Given the description of an element on the screen output the (x, y) to click on. 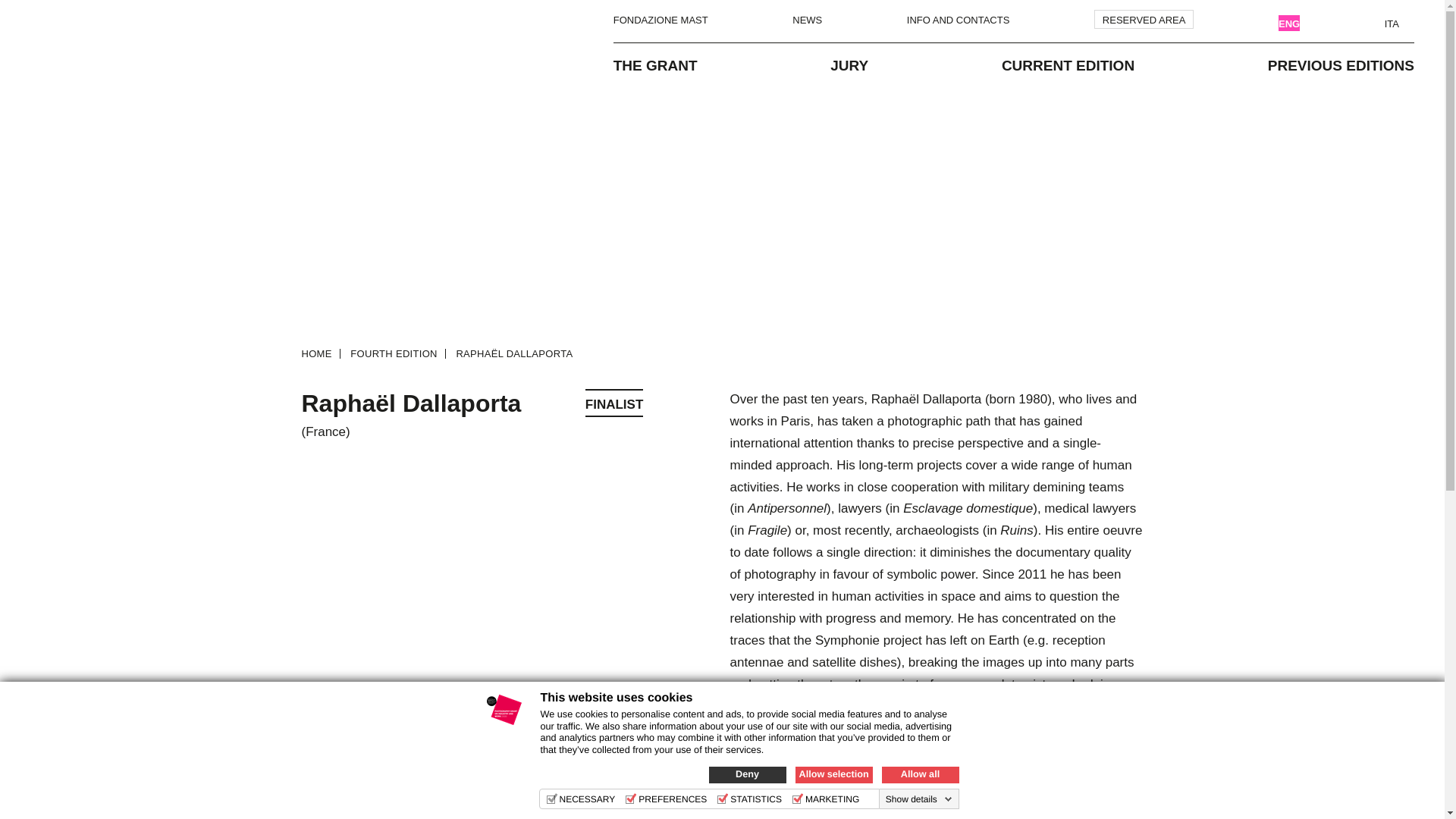
Show details (918, 799)
Deny (746, 774)
Allow all (919, 774)
Allow selection (833, 774)
FONDAZIONE MAST (659, 18)
NEWS (807, 18)
